Given the description of an element on the screen output the (x, y) to click on. 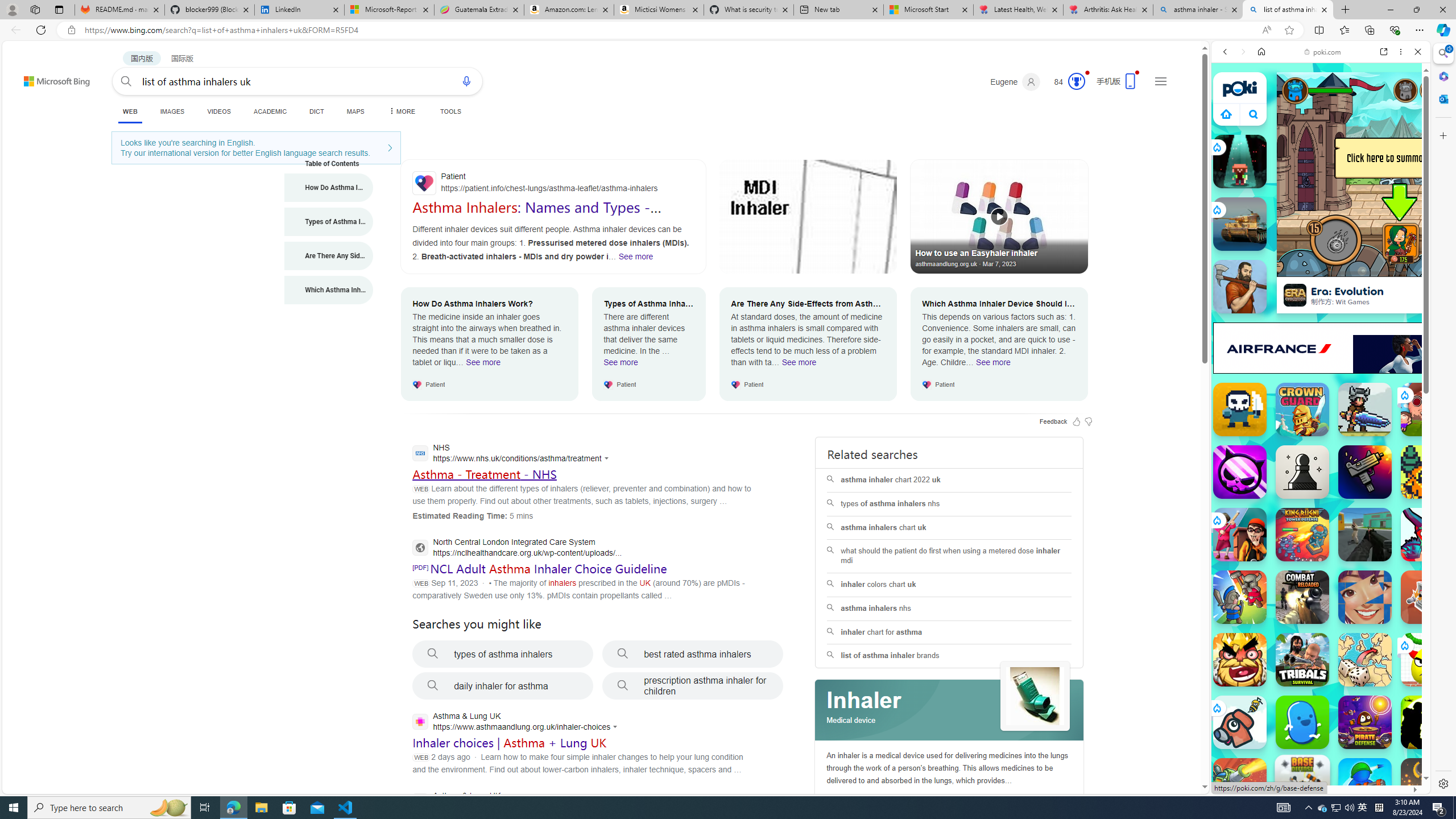
Combat Reloaded (1349, 580)
asthma inhalers chart uk (949, 527)
Eat the world (1427, 409)
ACADEMIC (269, 111)
inhaler colors chart uk (949, 584)
asthma inhalers chart uk (949, 527)
Games for Girls (1320, 406)
